Given the description of an element on the screen output the (x, y) to click on. 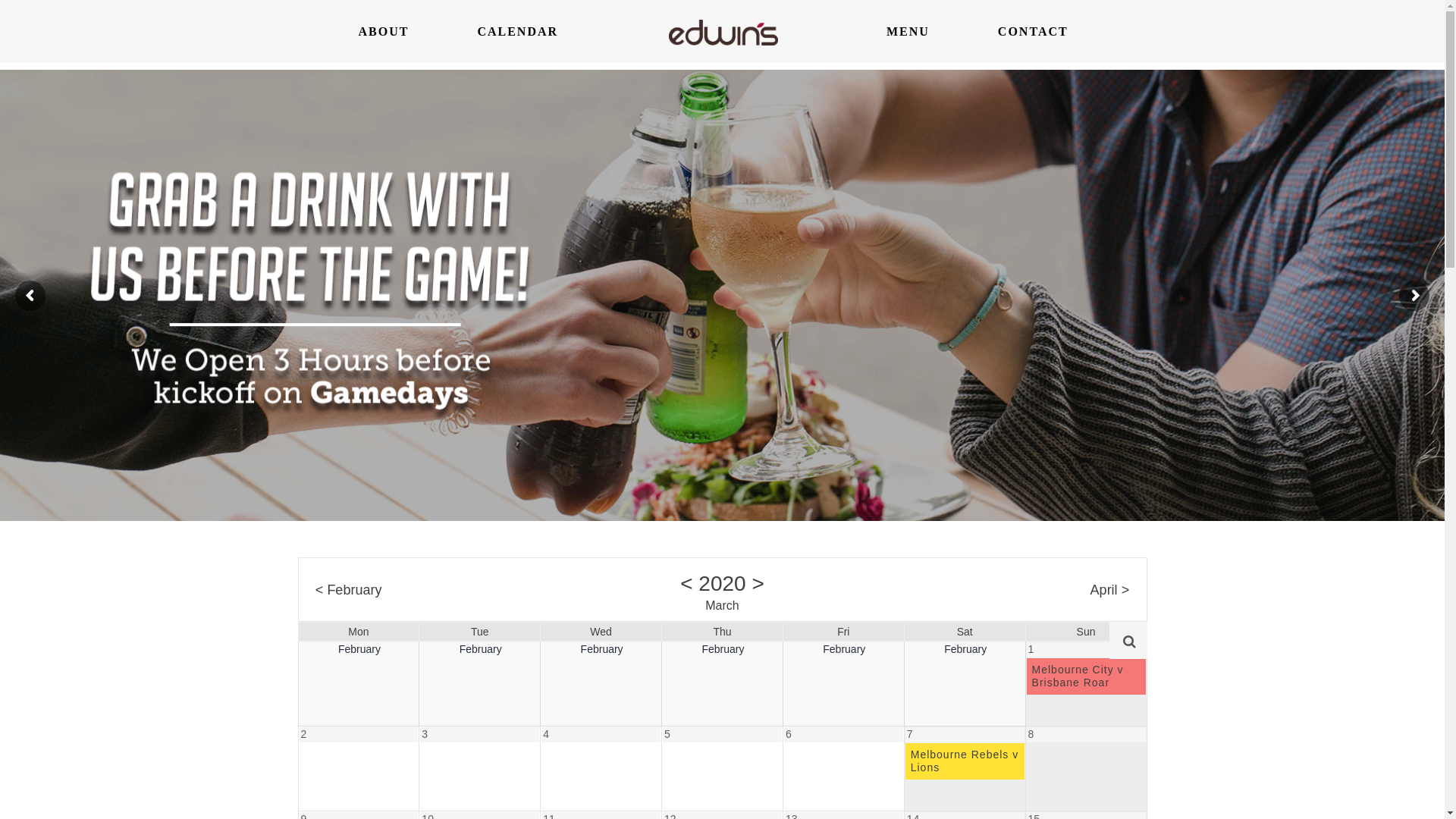
ABOUT Element type: text (383, 31)
CALENDAR Element type: text (517, 31)
CONTACT Element type: text (1032, 31)
< February Element type: text (348, 588)
MENU Element type: text (908, 31)
April > Element type: text (1109, 588)
> Element type: text (757, 583)
< Element type: text (686, 583)
